Given the description of an element on the screen output the (x, y) to click on. 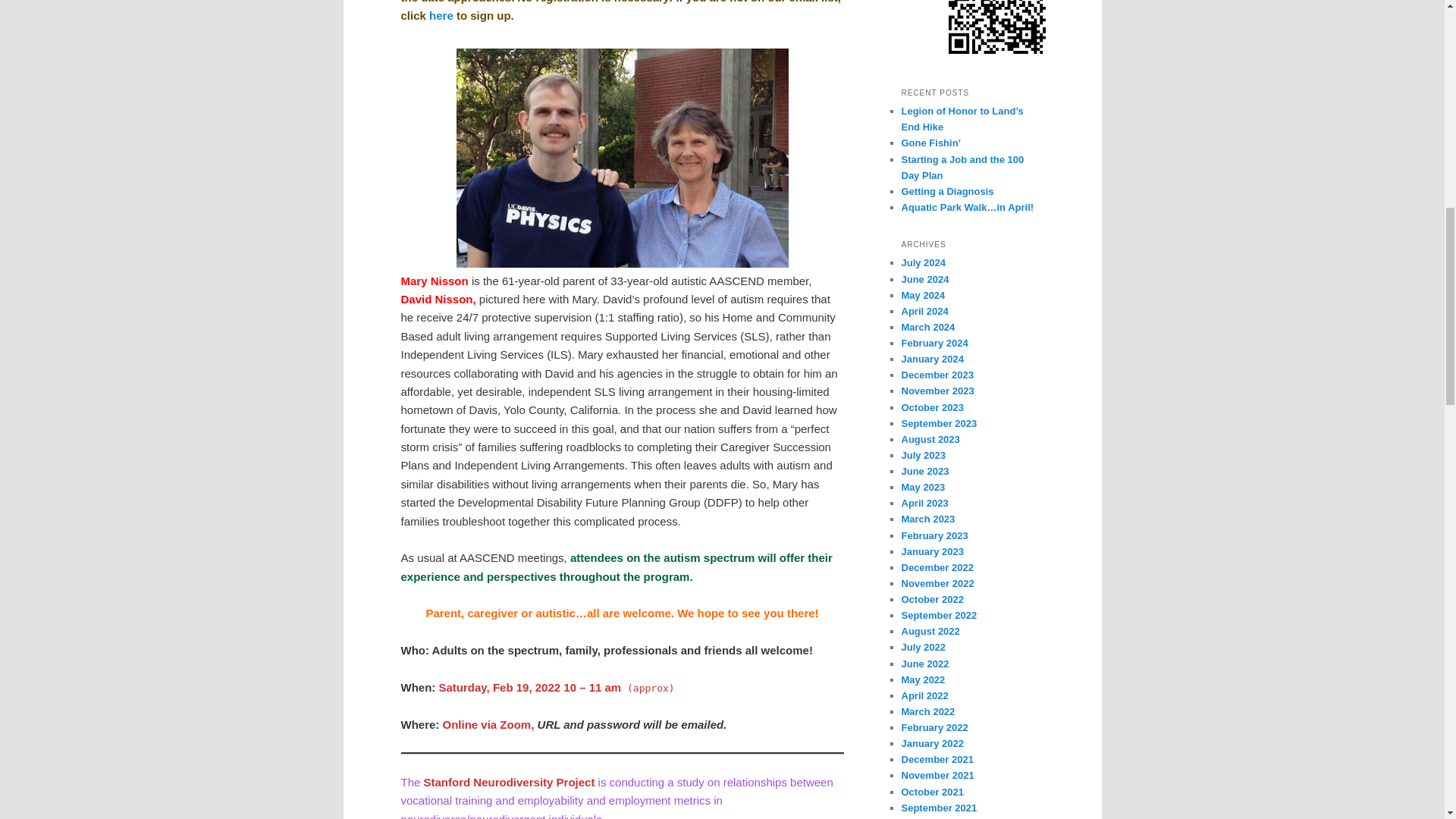
Starting a Job and the 100 Day Plan (962, 166)
Getting a Diagnosis (946, 191)
here (440, 15)
